Given the description of an element on the screen output the (x, y) to click on. 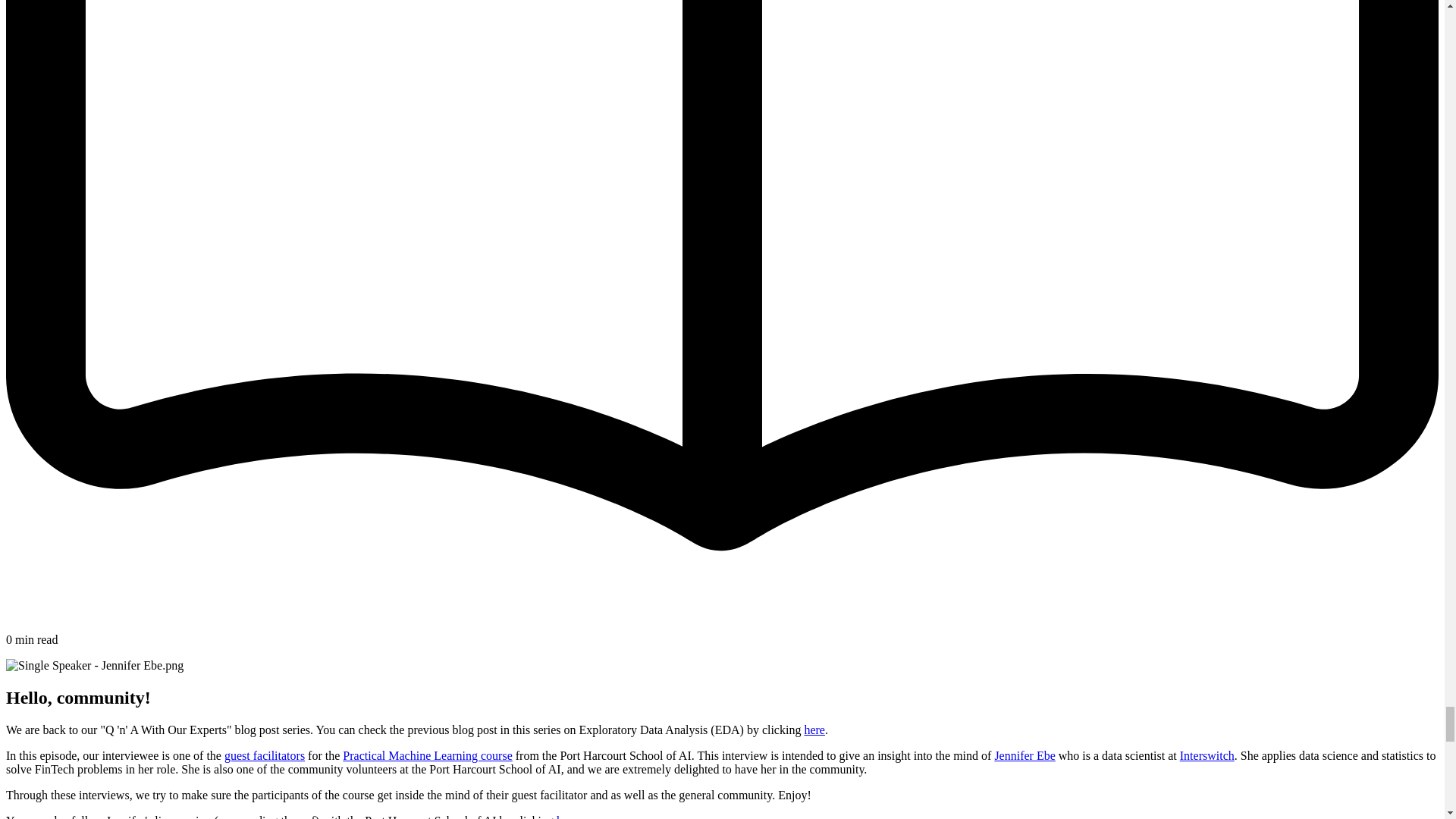
guest facilitators (264, 755)
Practical Machine Learning course (427, 755)
Interswitch (1206, 755)
here (567, 816)
Jennifer Ebe (1024, 755)
here (814, 729)
